Given the description of an element on the screen output the (x, y) to click on. 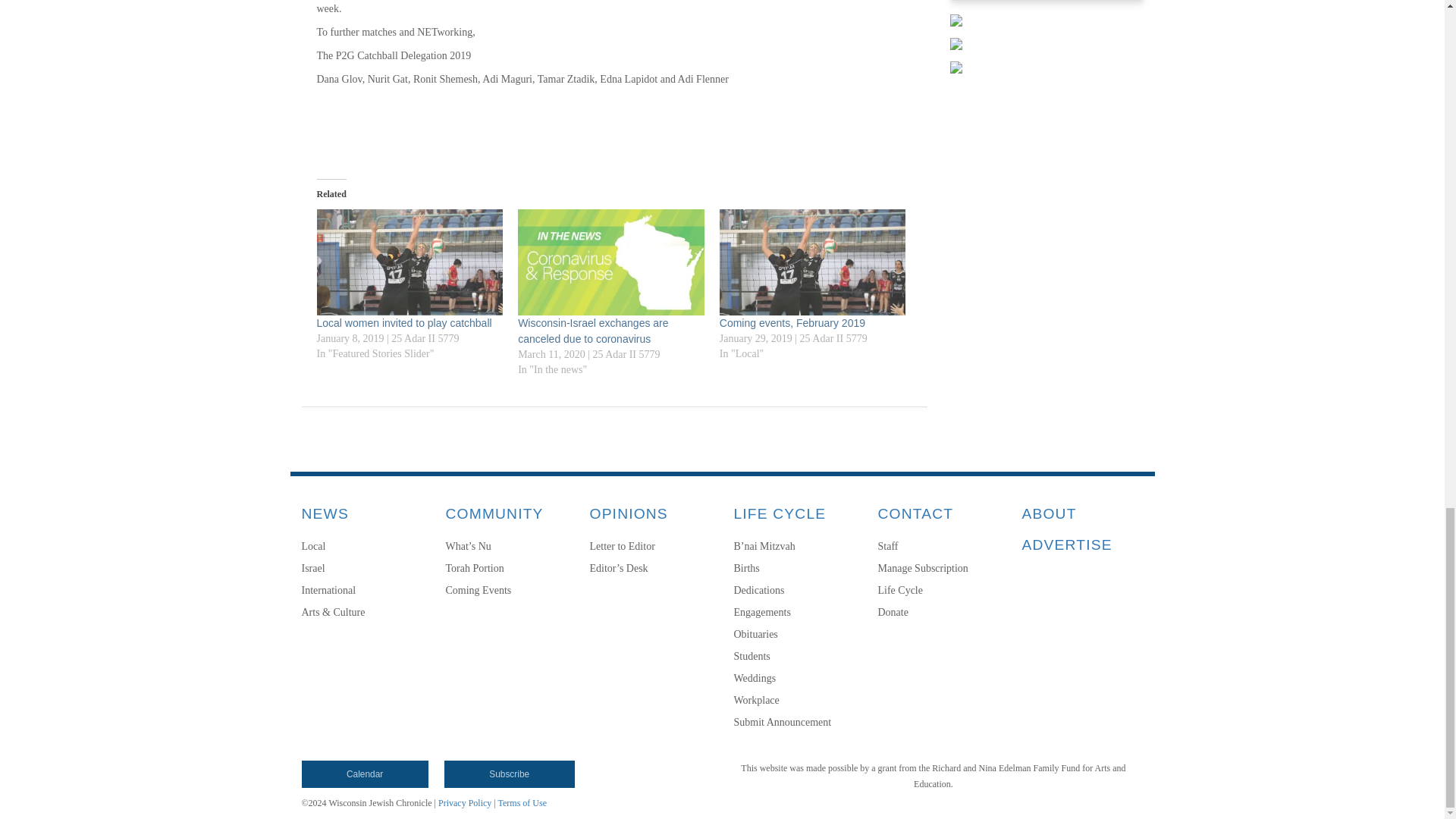
Local women invited to play catchball (410, 262)
Local women invited to play catchball (404, 322)
Coming events, February 2019 (812, 262)
Coming events, February 2019 (791, 322)
Wisconsin-Israel exchanges are canceled due to coronavirus (611, 262)
Wisconsin-Israel exchanges are canceled due to coronavirus (593, 330)
